Given the description of an element on the screen output the (x, y) to click on. 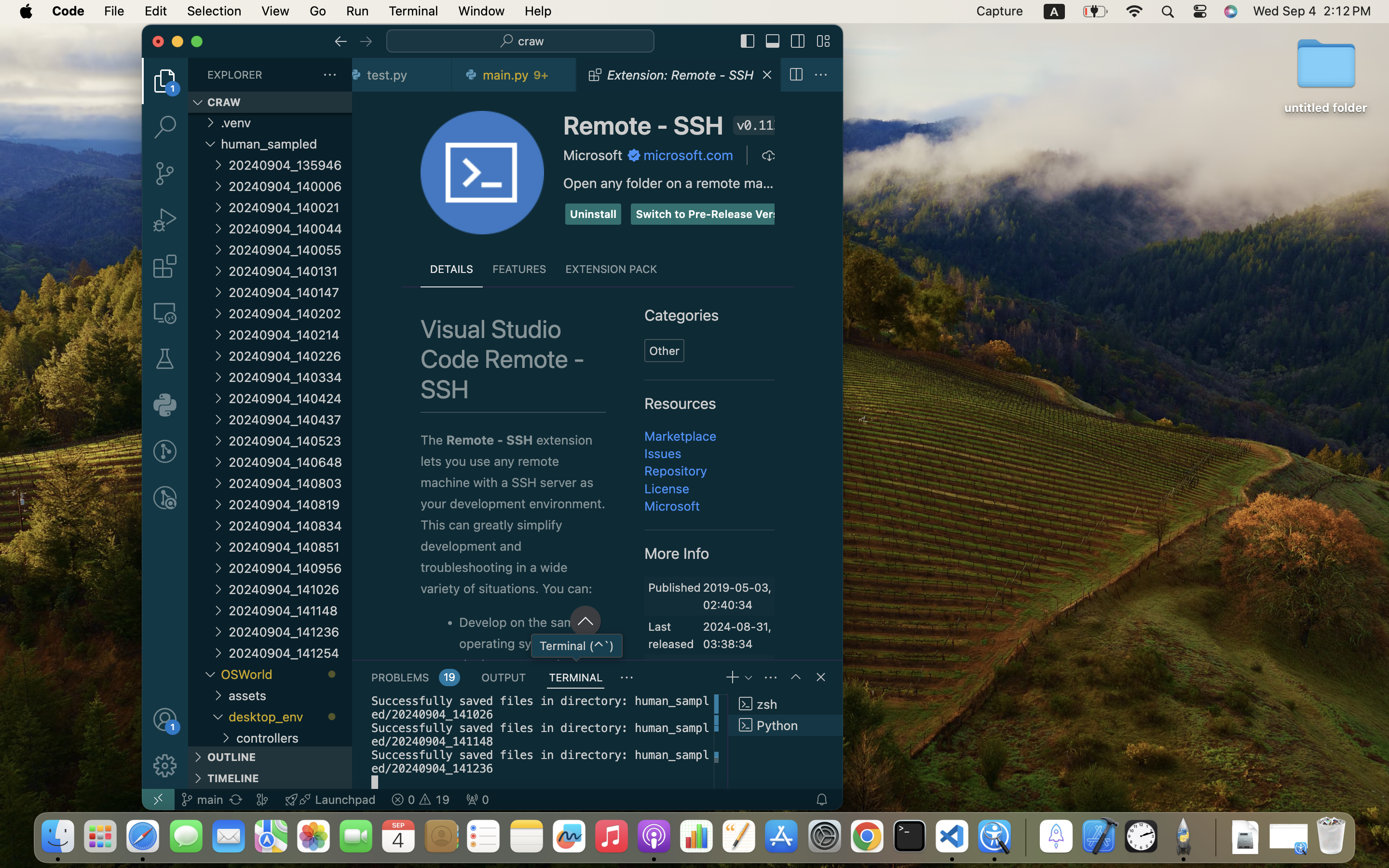
0  Element type: AXRadioButton (164, 451)
20240904_140202 Element type: AXGroup (290, 313)
19  0  Element type: AXButton (420, 799)
0 PROBLEMS 19 Element type: AXRadioButton (414, 676)
0  Element type: AXRadioButton (164, 312)
